Given the description of an element on the screen output the (x, y) to click on. 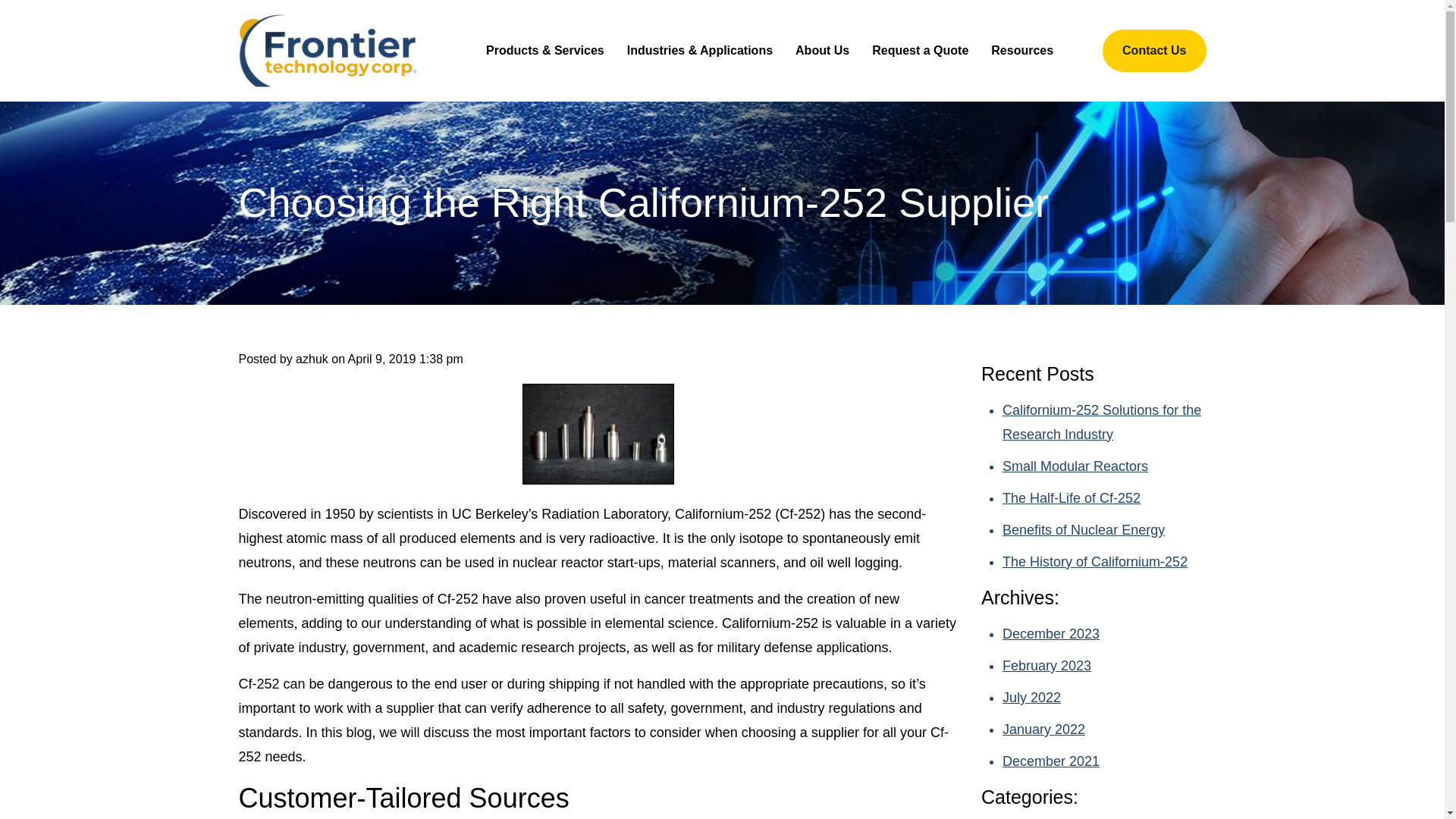
Request a Quote (920, 50)
Frontier Technology Corporation (327, 50)
Resources (1022, 50)
About Us (822, 50)
